Given the description of an element on the screen output the (x, y) to click on. 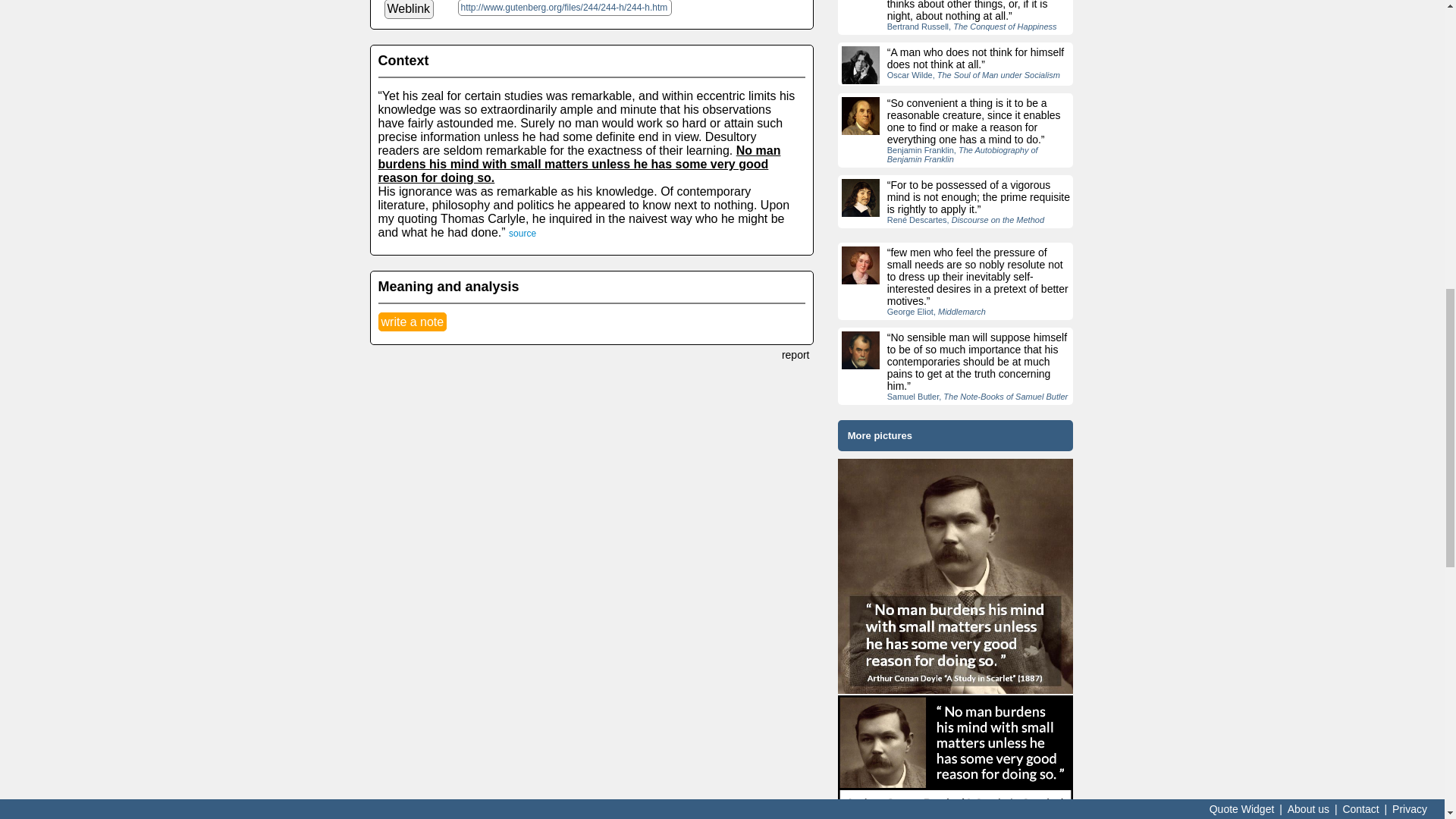
source (521, 233)
write a note (411, 321)
Arthur Conan Doyle quote about mind from A Study in Scarlet (955, 757)
Arthur Conan Doyle quote about mind from A Study in Scarlet (955, 575)
